Given the description of an element on the screen output the (x, y) to click on. 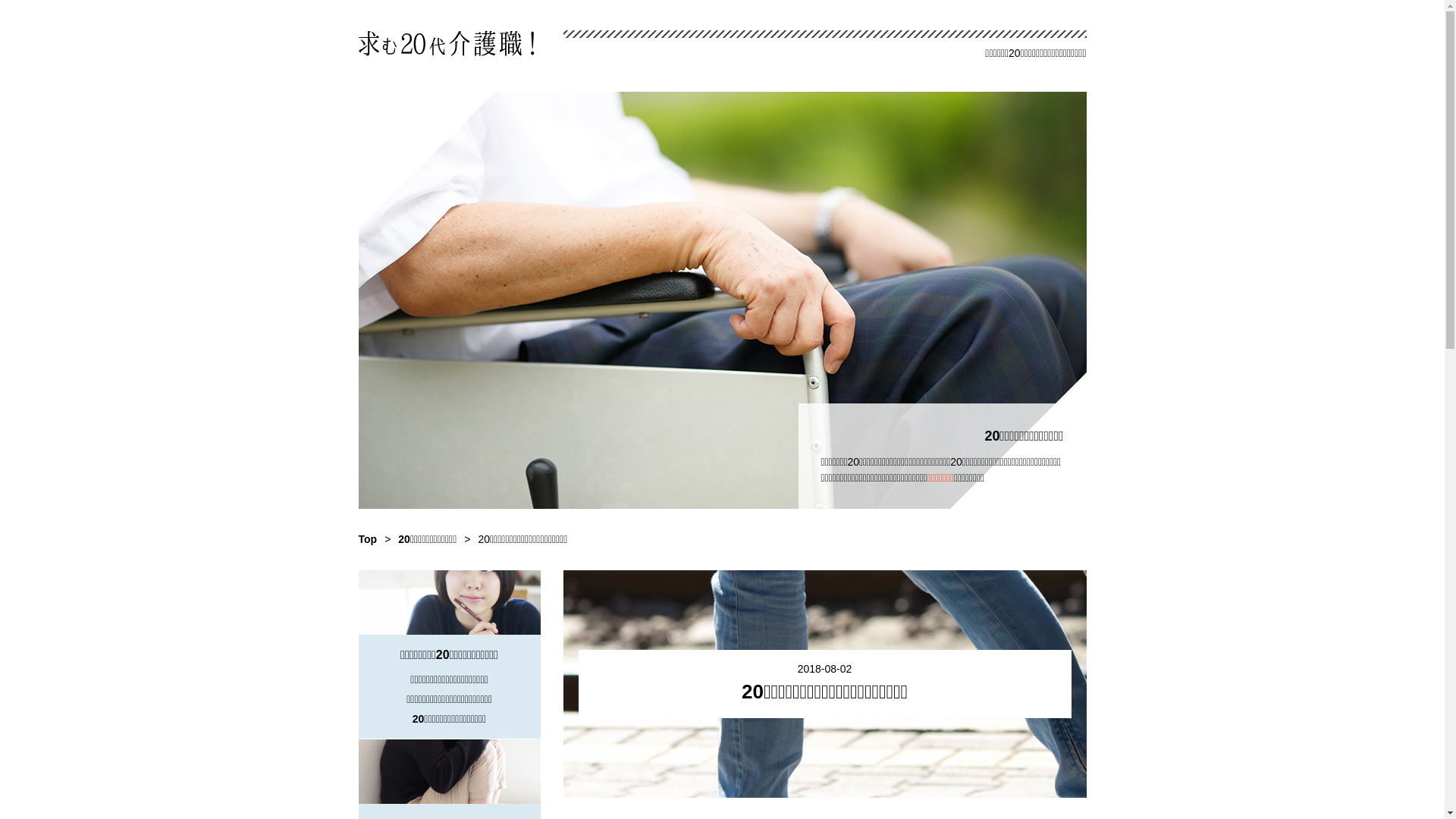
Top Element type: text (366, 539)
